Given the description of an element on the screen output the (x, y) to click on. 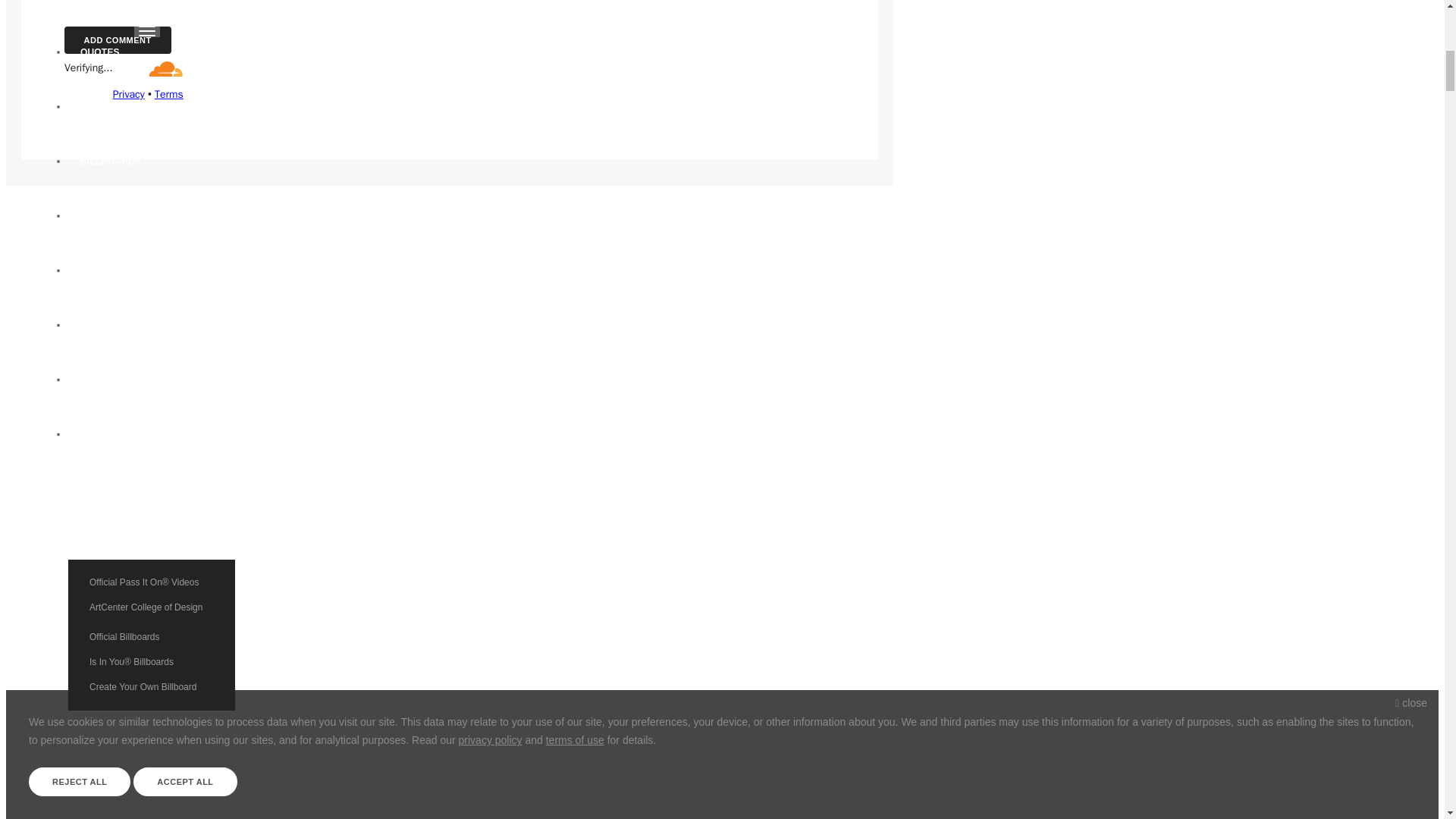
Add Comment (117, 40)
Add Comment (117, 40)
